Given the description of an element on the screen output the (x, y) to click on. 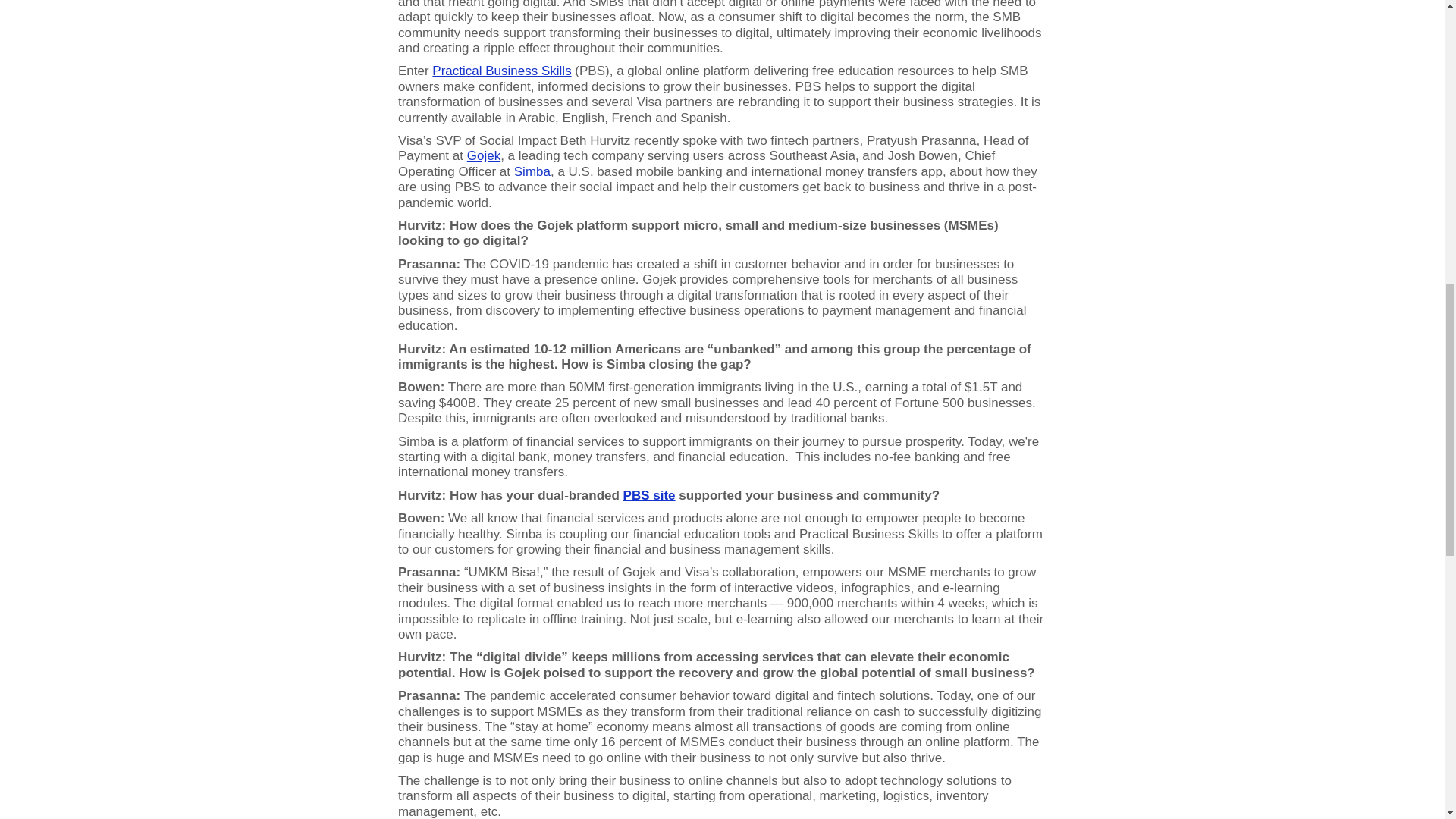
PBS site (649, 495)
Simba (531, 171)
Gojek (483, 155)
Practical Business Skills (501, 70)
